Given the description of an element on the screen output the (x, y) to click on. 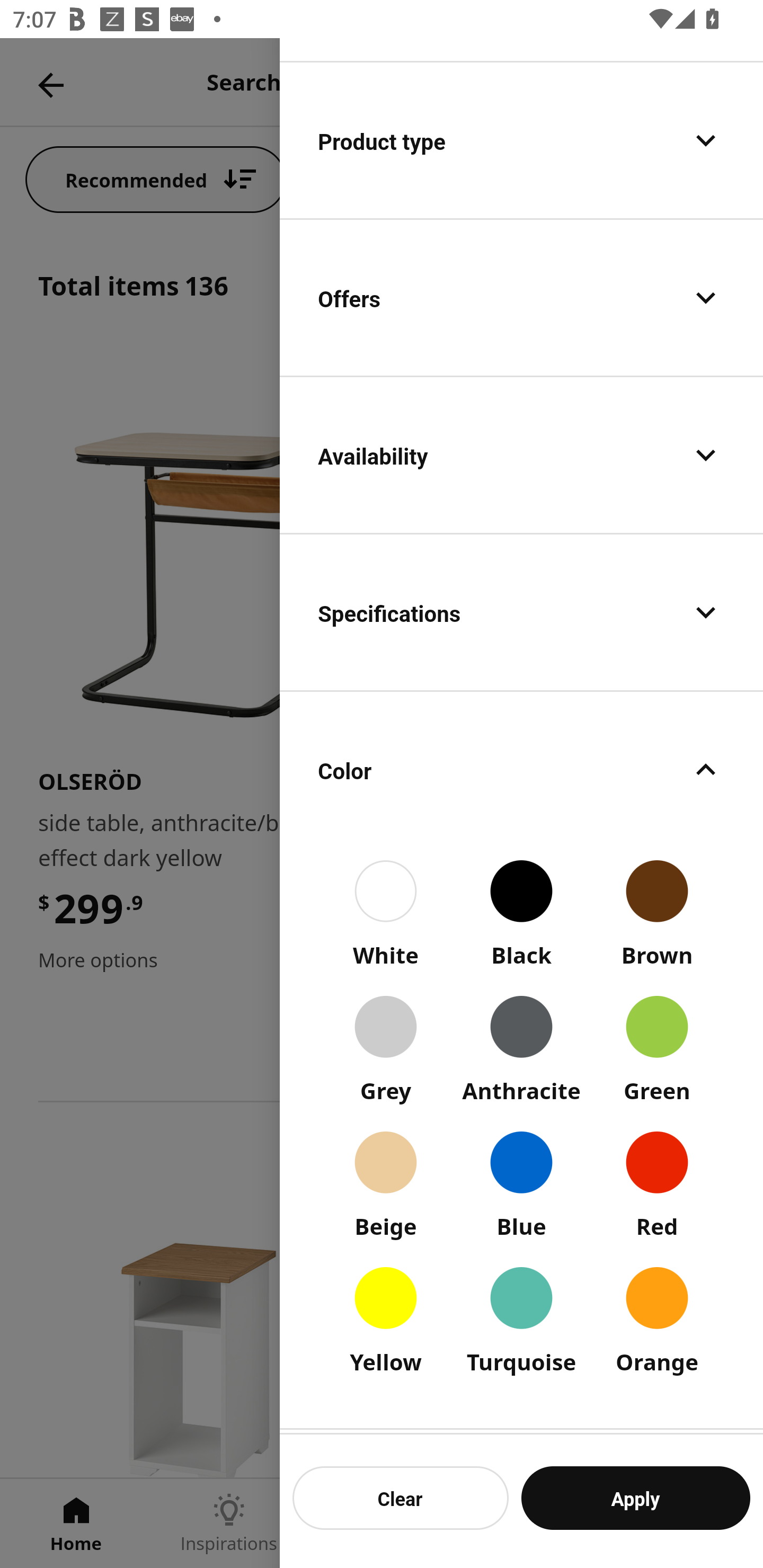
Product type (521, 140)
Offers (521, 297)
Availability (521, 455)
Specifications (521, 612)
Color (521, 769)
Clear (400, 1498)
Apply (635, 1498)
